Given the description of an element on the screen output the (x, y) to click on. 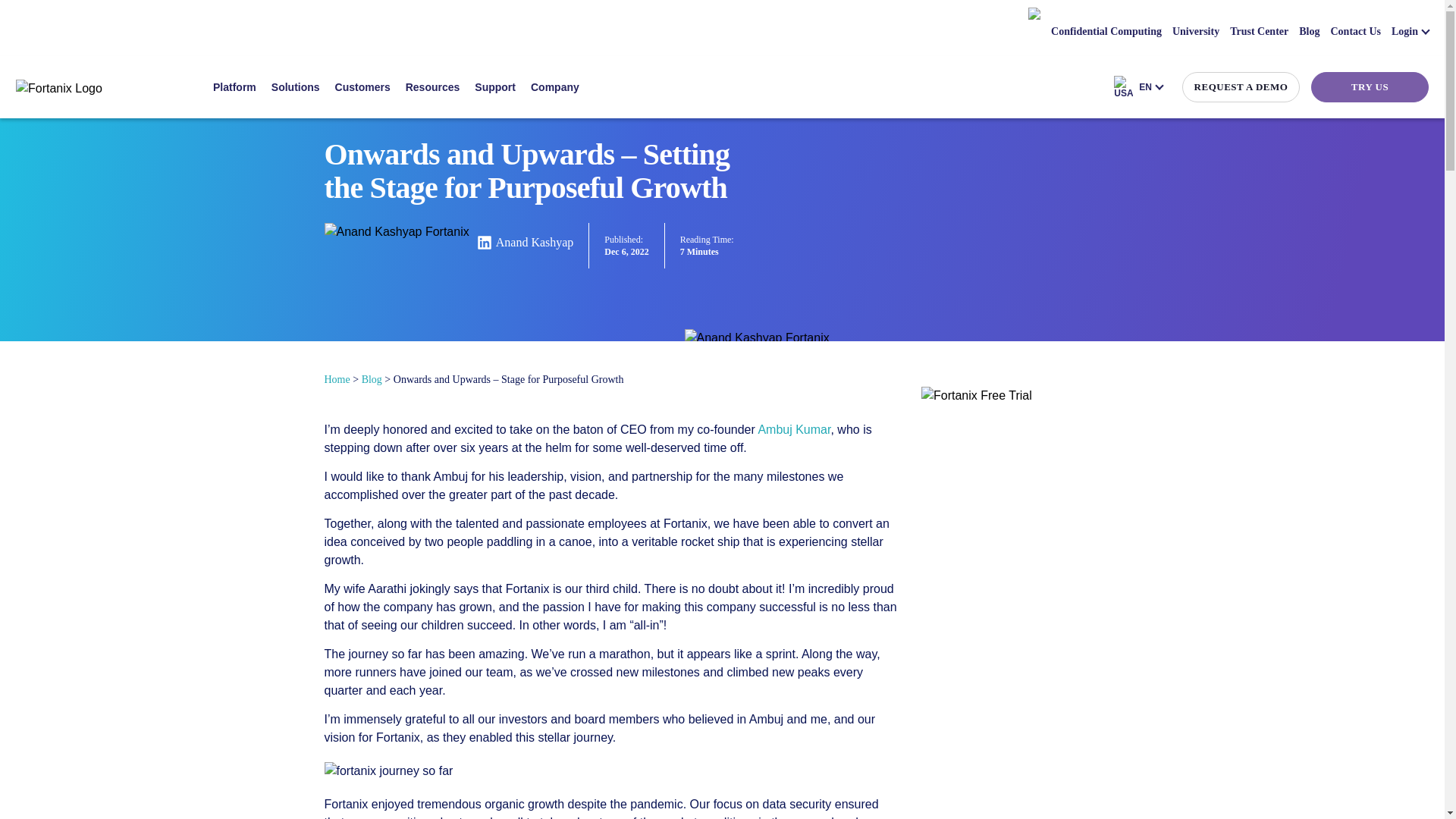
Trust Center (1259, 31)
Platform (234, 86)
Blog (1308, 31)
Contact Us (1355, 31)
Login (1409, 31)
Solutions (295, 86)
Confidential Computing (1106, 31)
University (1196, 31)
